Given the description of an element on the screen output the (x, y) to click on. 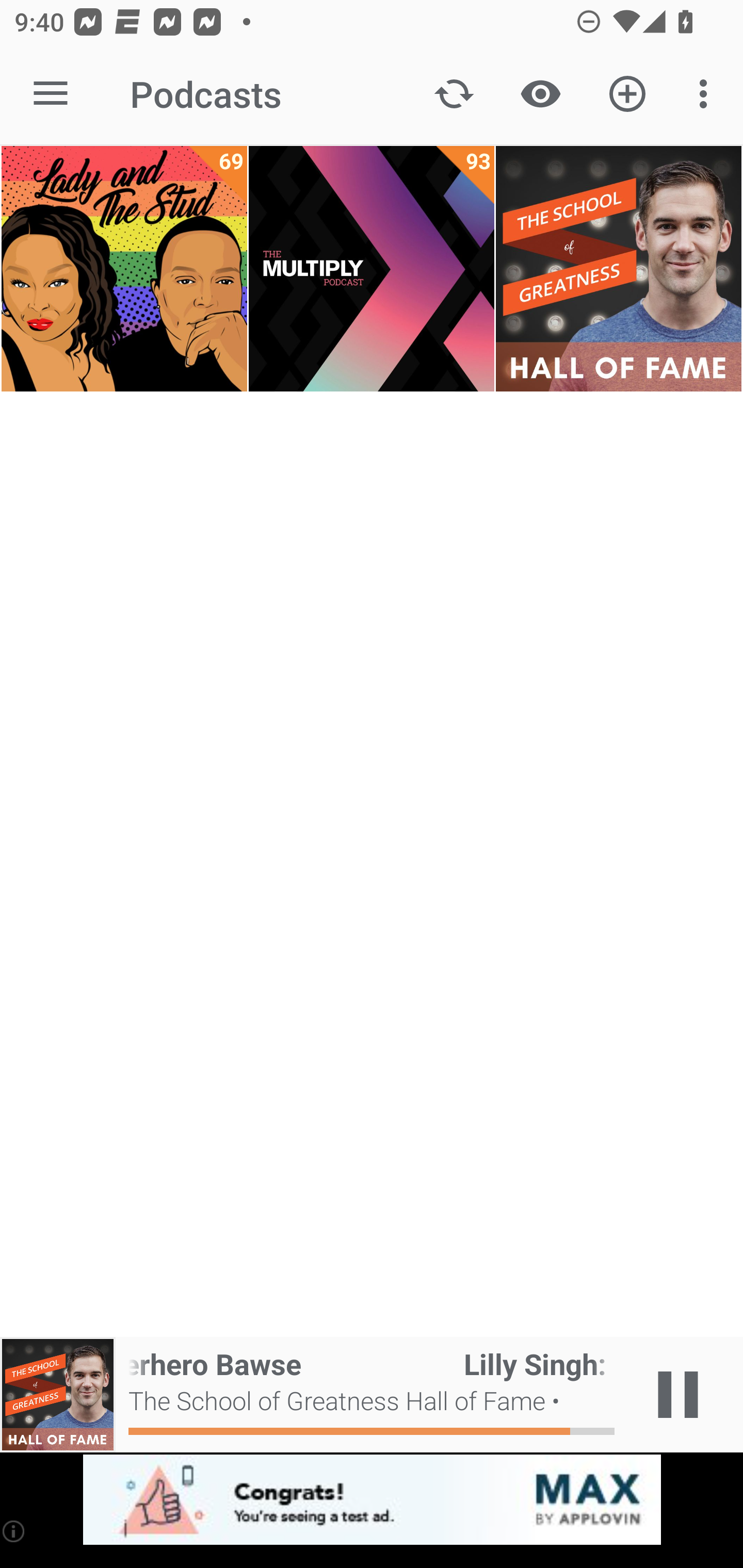
Open navigation sidebar (50, 93)
Update (453, 93)
Show / Hide played content (540, 93)
Add new Podcast (626, 93)
More options (706, 93)
Lady and The Stud 69 (124, 268)
The Multiply Podcast 93 (371, 268)
The School of Greatness Hall of Fame (618, 268)
Play / Pause (677, 1394)
app-monetization (371, 1500)
(i) (14, 1531)
